Given the description of an element on the screen output the (x, y) to click on. 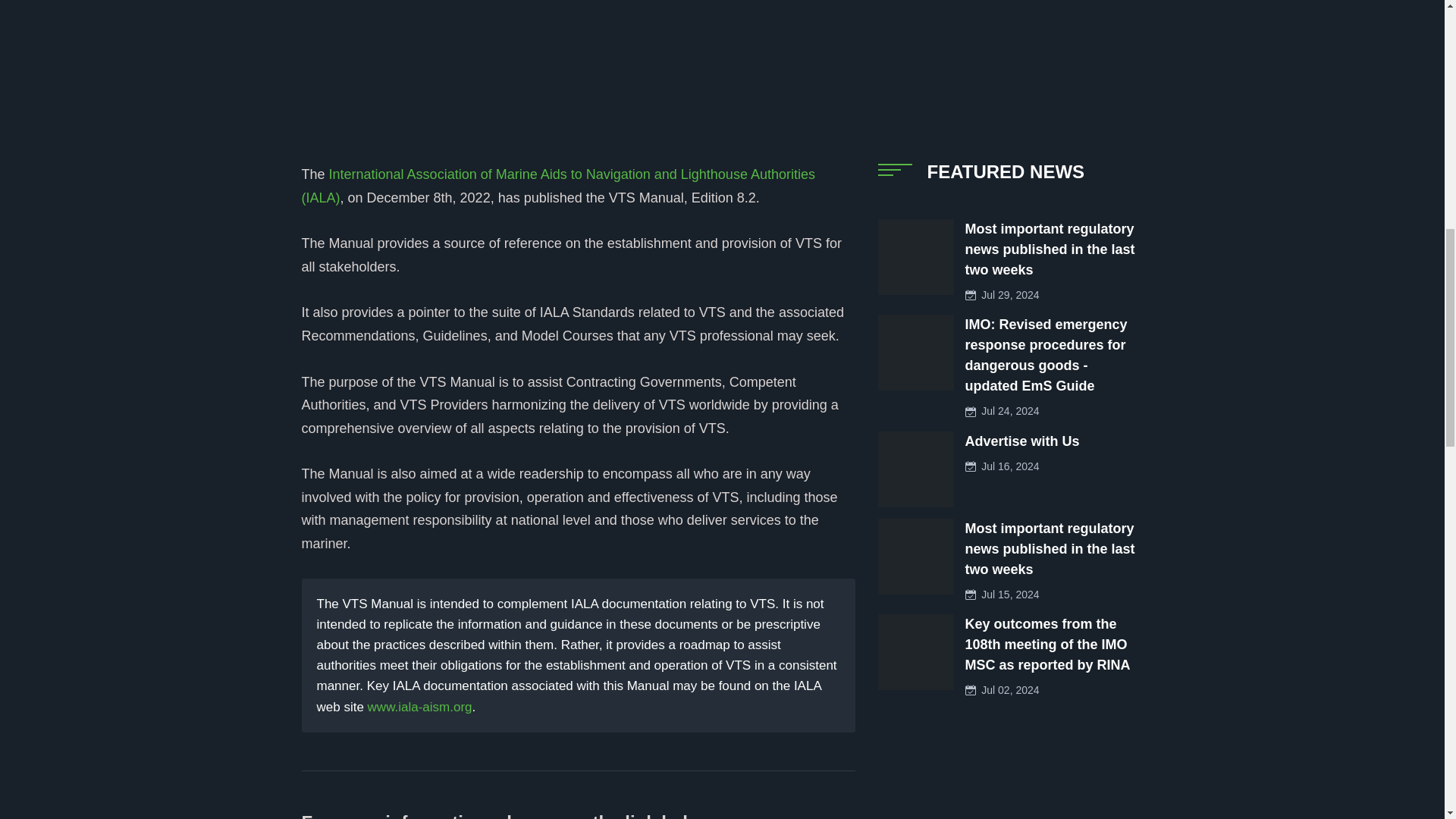
Advertise with Us (1020, 441)
www.iala-aism.org (419, 707)
